Given the description of an element on the screen output the (x, y) to click on. 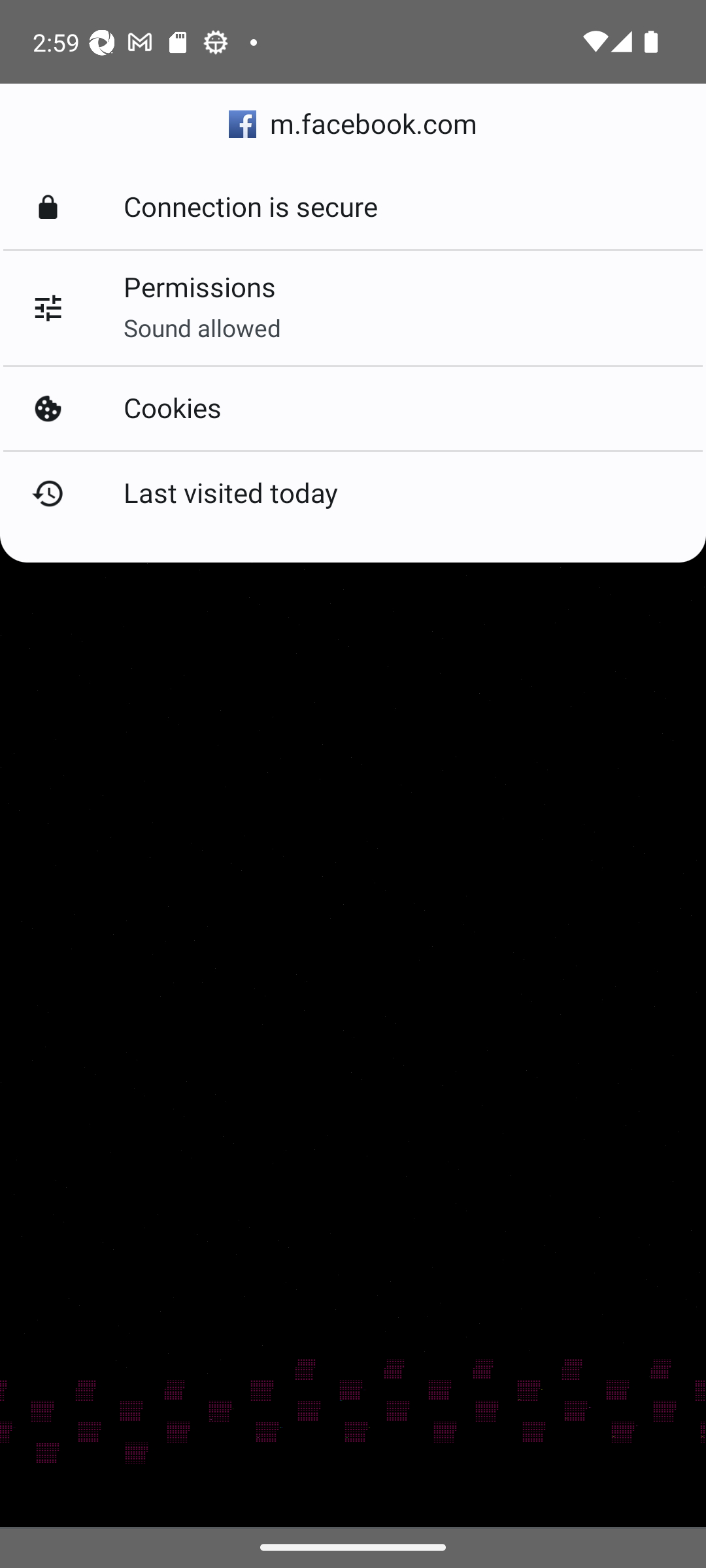
m.facebook.com (353, 124)
Connection is secure (353, 207)
Permissions Sound allowed (353, 307)
Cookies (353, 408)
Last visited today (353, 492)
